Given the description of an element on the screen output the (x, y) to click on. 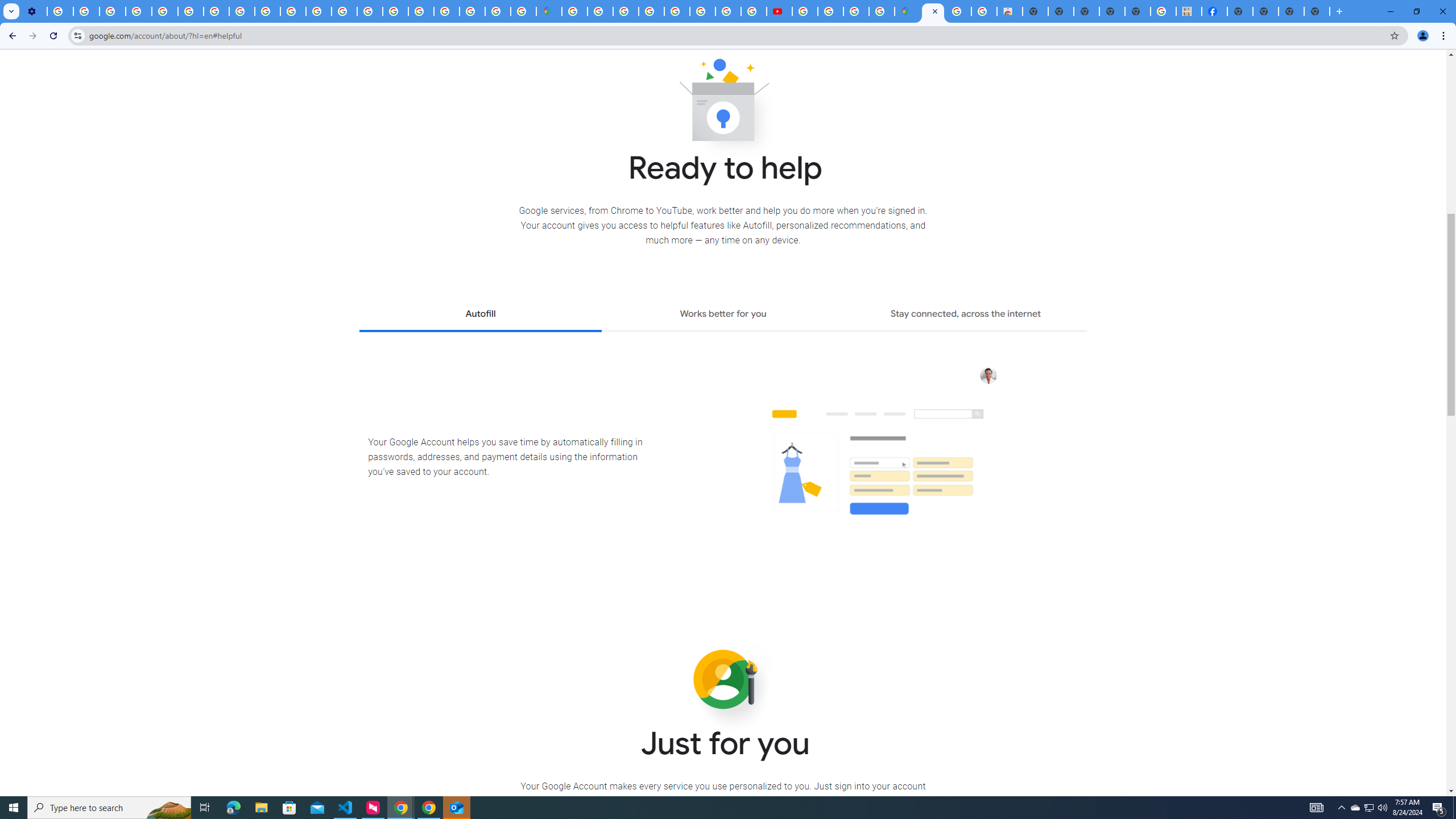
MILEY CYRUS. (1188, 11)
Google Account Help (138, 11)
Autofill (480, 315)
Settings - Customize profile (34, 11)
Just for you (722, 679)
New Tab (1239, 11)
Miley Cyrus | Facebook (1213, 11)
